Given the description of an element on the screen output the (x, y) to click on. 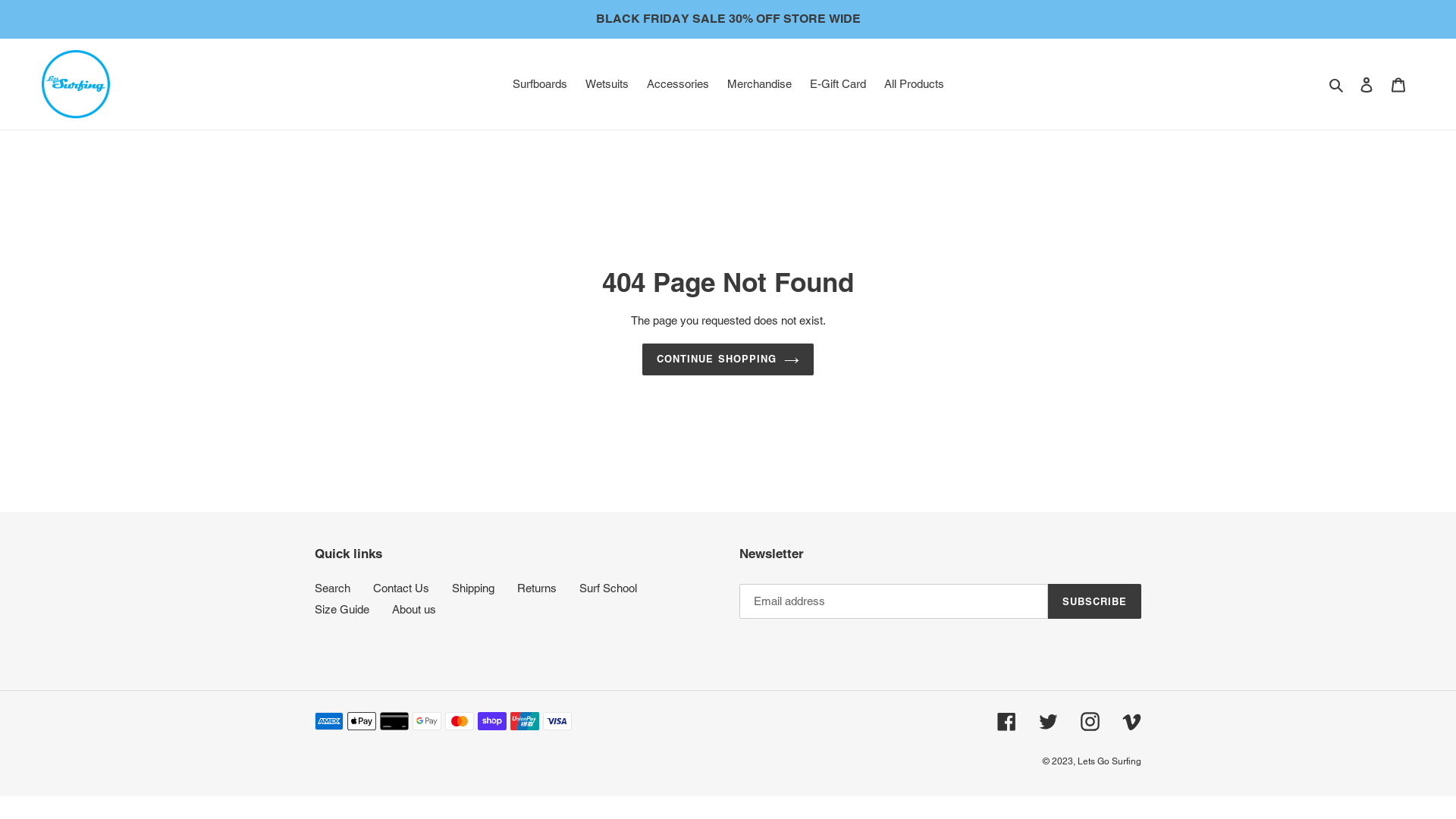
Shipping Element type: text (472, 587)
Contact Us Element type: text (401, 587)
Size Guide Element type: text (341, 608)
Wetsuits Element type: text (606, 84)
CONTINUE SHOPPING Element type: text (727, 359)
Twitter Element type: text (1047, 721)
Surf School Element type: text (608, 587)
Returns Element type: text (536, 587)
Search Element type: text (332, 587)
BLACK FRIDAY SALE 30% OFF STORE WIDE Element type: text (727, 18)
E-Gift Card Element type: text (837, 84)
All Products Element type: text (913, 84)
Cart Element type: text (1398, 84)
Lets Go Surfing Element type: text (1109, 761)
Instagram Element type: text (1089, 721)
Log in Element type: text (1366, 84)
Surfboards Element type: text (539, 84)
About us Element type: text (414, 608)
Vimeo Element type: text (1131, 721)
Facebook Element type: text (1006, 721)
Accessories Element type: text (676, 84)
Search Element type: text (1337, 84)
Merchandise Element type: text (758, 84)
SUBSCRIBE Element type: text (1094, 600)
